Given the description of an element on the screen output the (x, y) to click on. 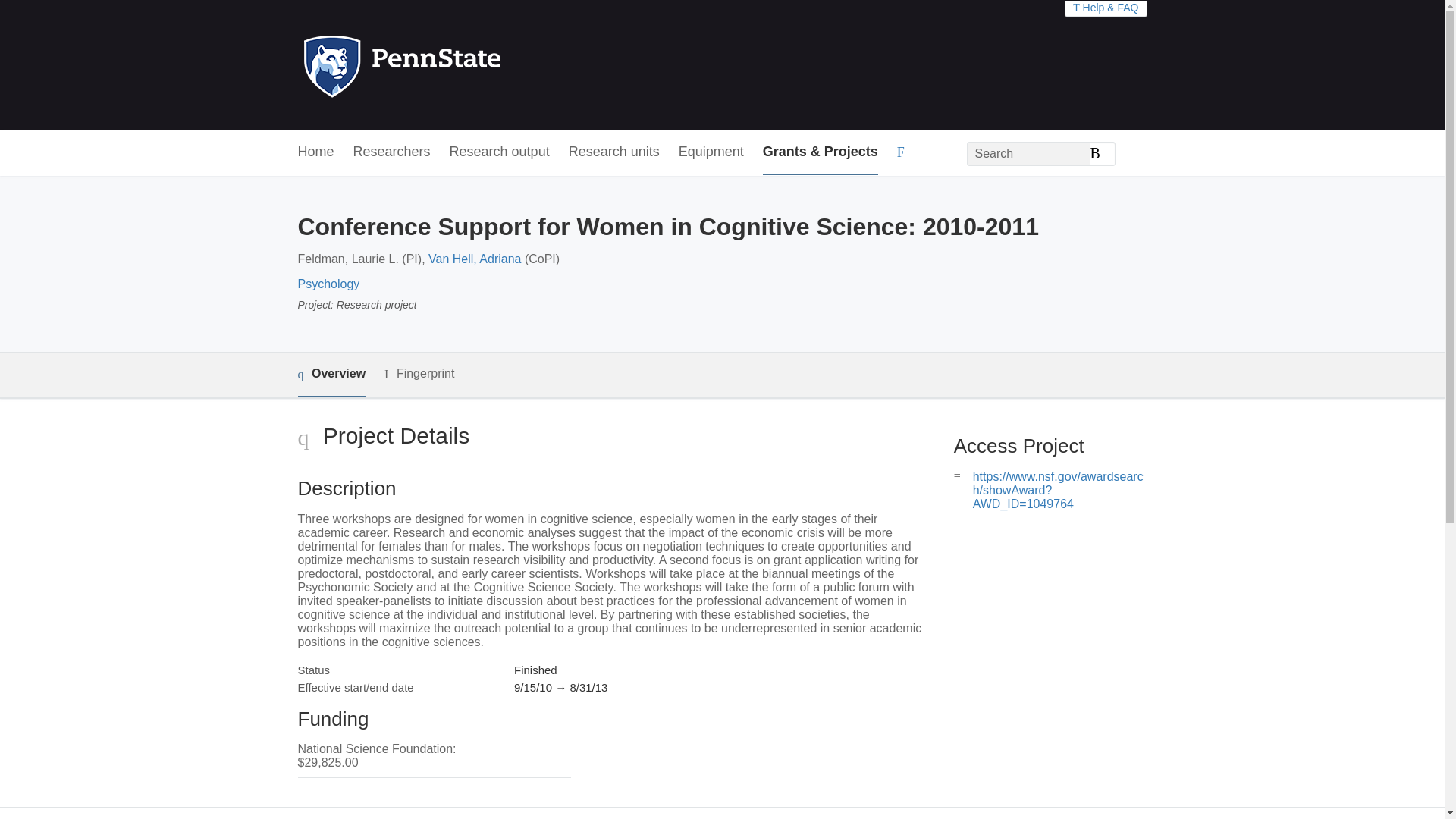
Van Hell, Adriana (474, 258)
Equipment (711, 152)
Research units (614, 152)
Researchers (391, 152)
Penn State Home (467, 65)
Research output (499, 152)
Psychology (328, 283)
Overview (331, 374)
Fingerprint (419, 373)
